Given the description of an element on the screen output the (x, y) to click on. 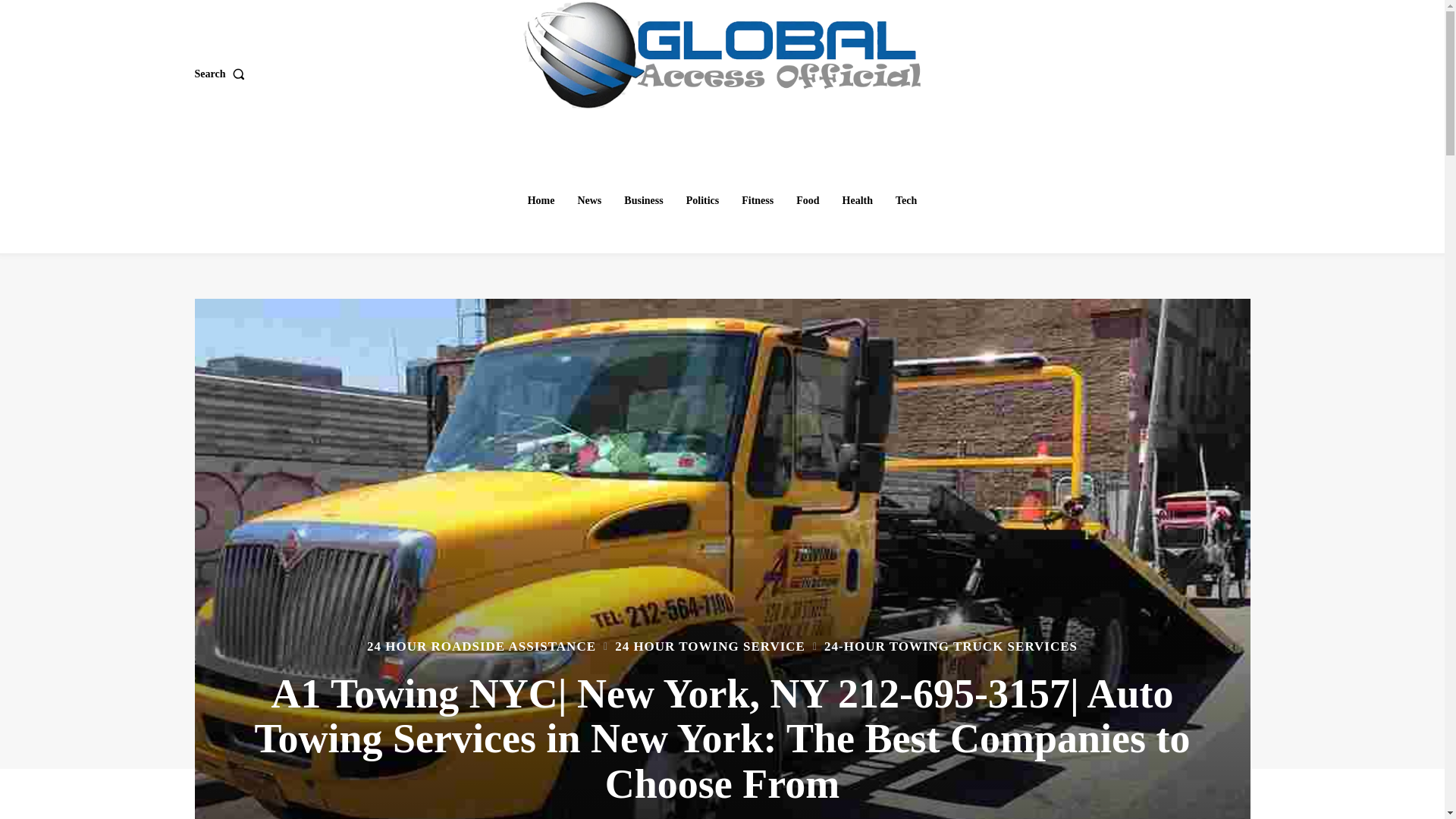
Fitness (756, 201)
24 HOUR TOWING SERVICE (709, 645)
Home (540, 201)
Food (808, 201)
24-HOUR TOWING TRUCK SERVICES (950, 645)
24 HOUR ROADSIDE ASSISTANCE (480, 645)
Tech (906, 201)
News (588, 201)
Business (642, 201)
Politics (702, 201)
